Given the description of an element on the screen output the (x, y) to click on. 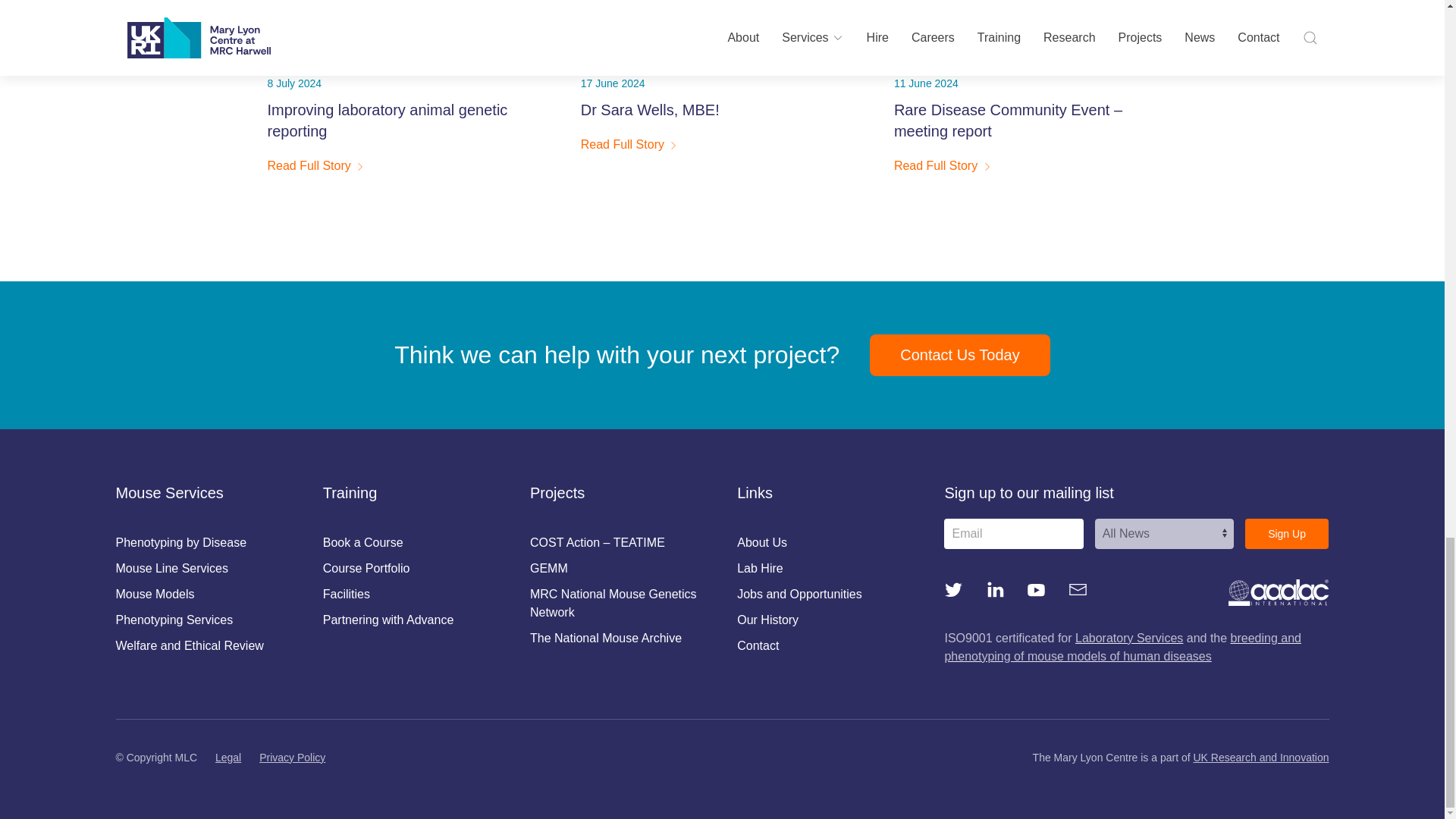
Follow Mary Lyon Centre on LinkedIn (994, 588)
Contact the Mary Lyon Centre via email (1077, 588)
Read Full Dr Sara Wells, MBE! Story (706, 87)
Follow Mary Lyon Centre on Twitter (952, 588)
Subscribe to Mary Lyon Centre on YouTube (1035, 588)
